Given the description of an element on the screen output the (x, y) to click on. 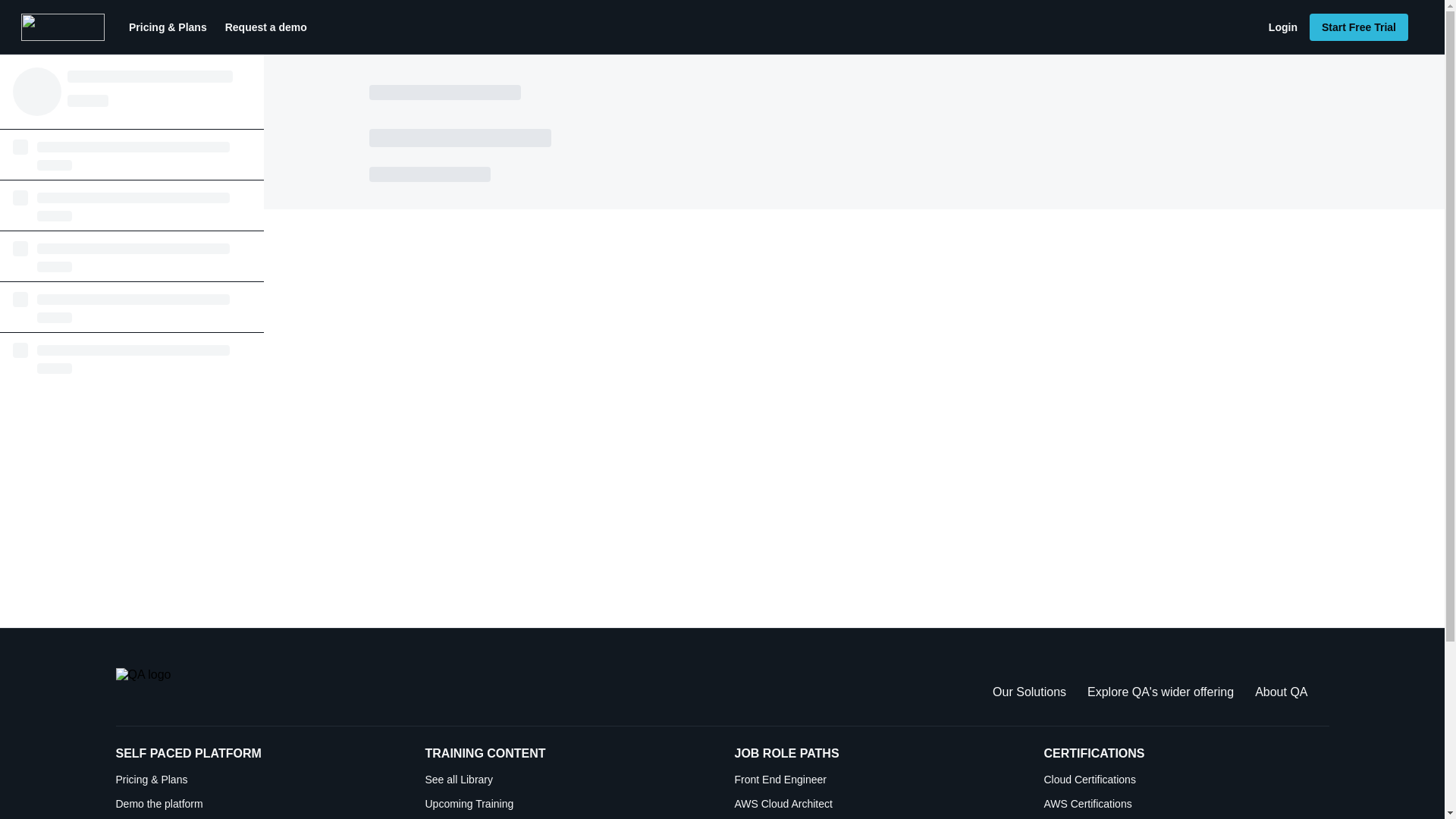
Our Solutions (1028, 692)
Upcoming Training (567, 803)
See all Library (567, 779)
AWS Cloud Architect (876, 803)
Login (1282, 26)
Front End Engineer (876, 779)
Request a demo (266, 26)
Explore QA's wider offering (1160, 692)
AWS Certifications (1185, 803)
Cloud Certifications (1185, 779)
